Given the description of an element on the screen output the (x, y) to click on. 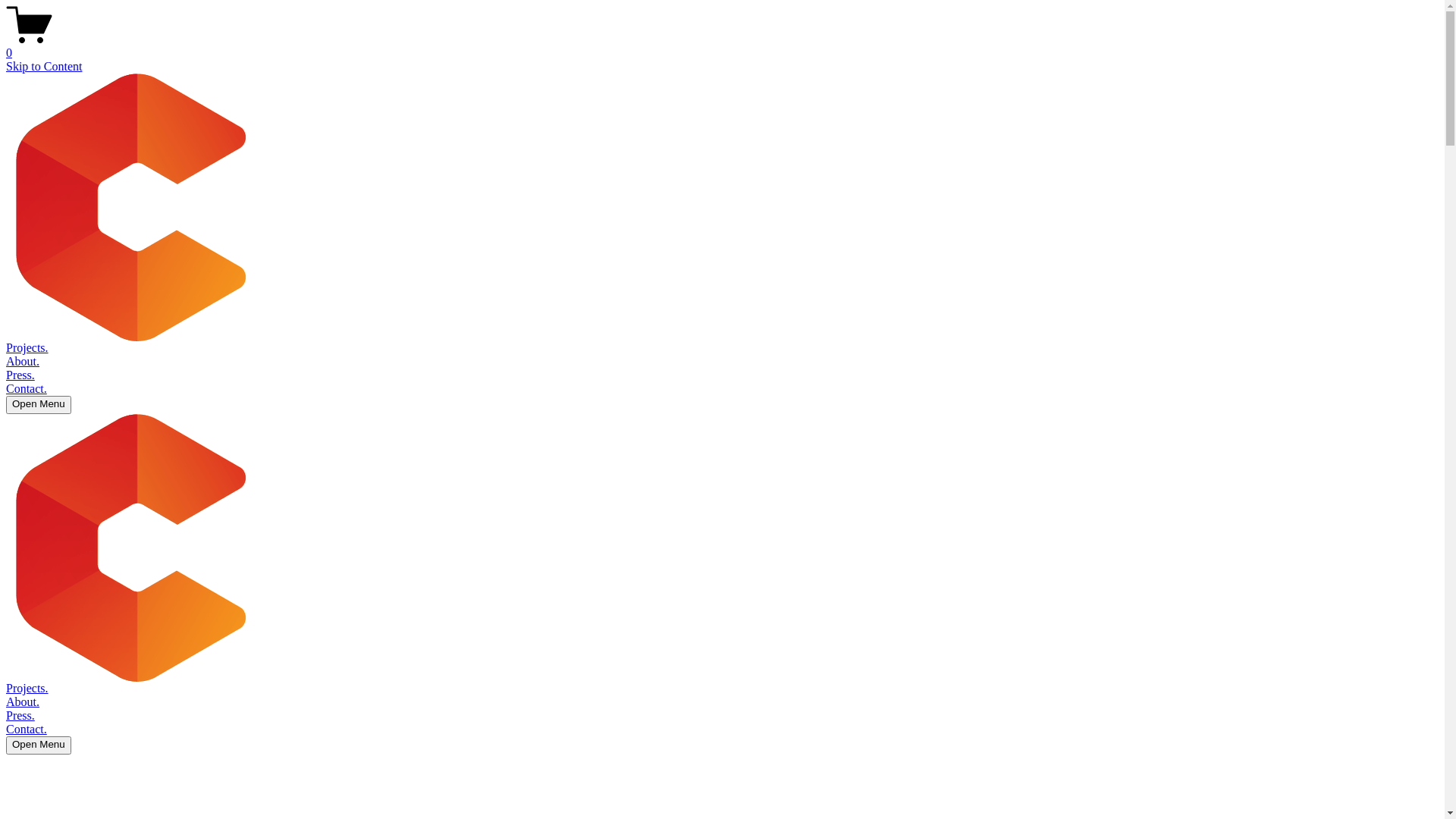
Skip to Content Element type: text (43, 65)
Open Menu Element type: text (38, 404)
About. Element type: text (22, 360)
Open Menu Element type: text (38, 745)
Press. Element type: text (20, 374)
Projects. Element type: text (27, 687)
Press. Element type: text (20, 715)
About. Element type: text (22, 701)
Projects. Element type: text (27, 347)
Contact. Element type: text (26, 728)
Contact. Element type: text (26, 388)
0 Element type: text (722, 45)
